Given the description of an element on the screen output the (x, y) to click on. 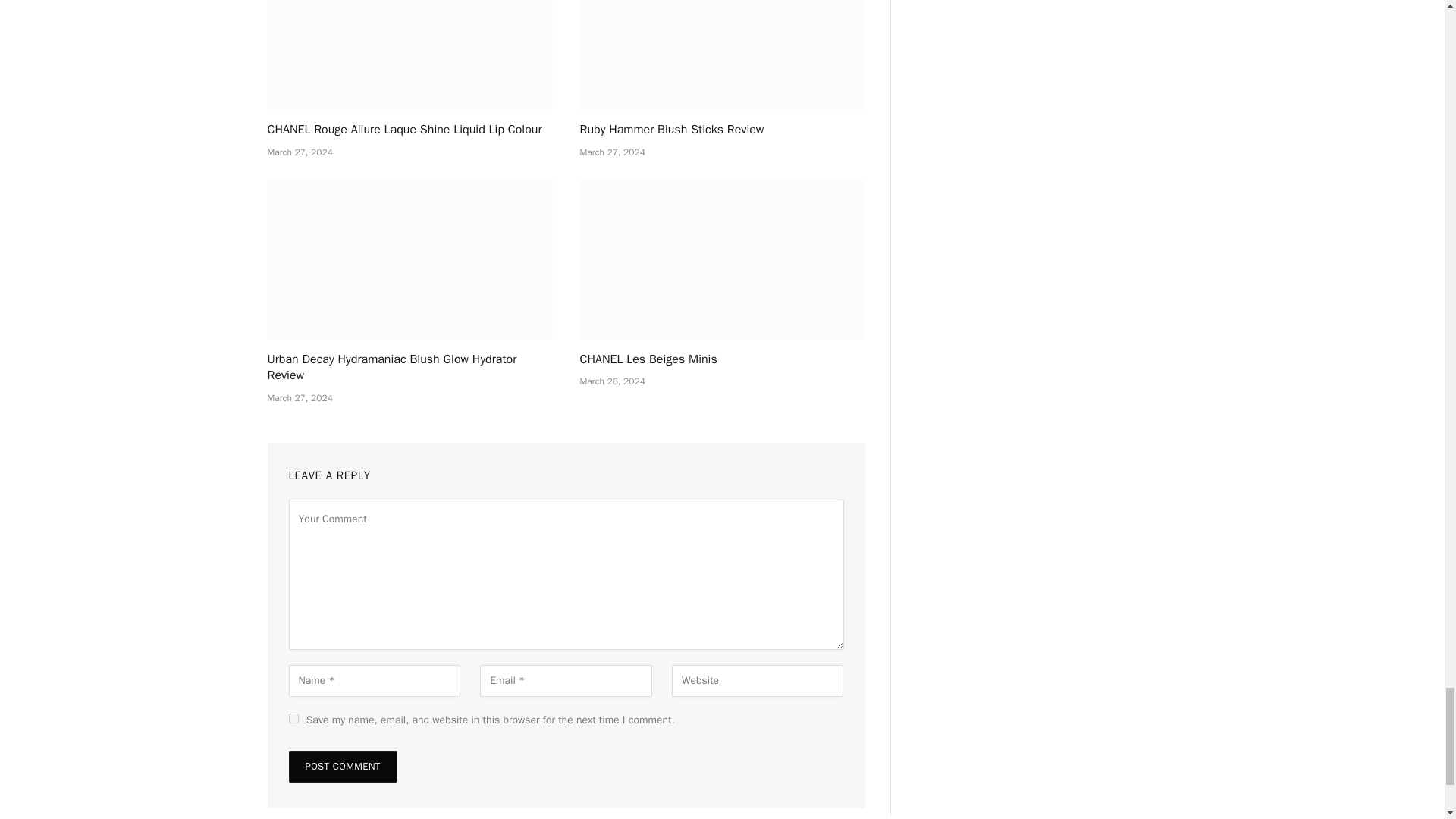
yes (293, 718)
Post Comment (342, 766)
